Given the description of an element on the screen output the (x, y) to click on. 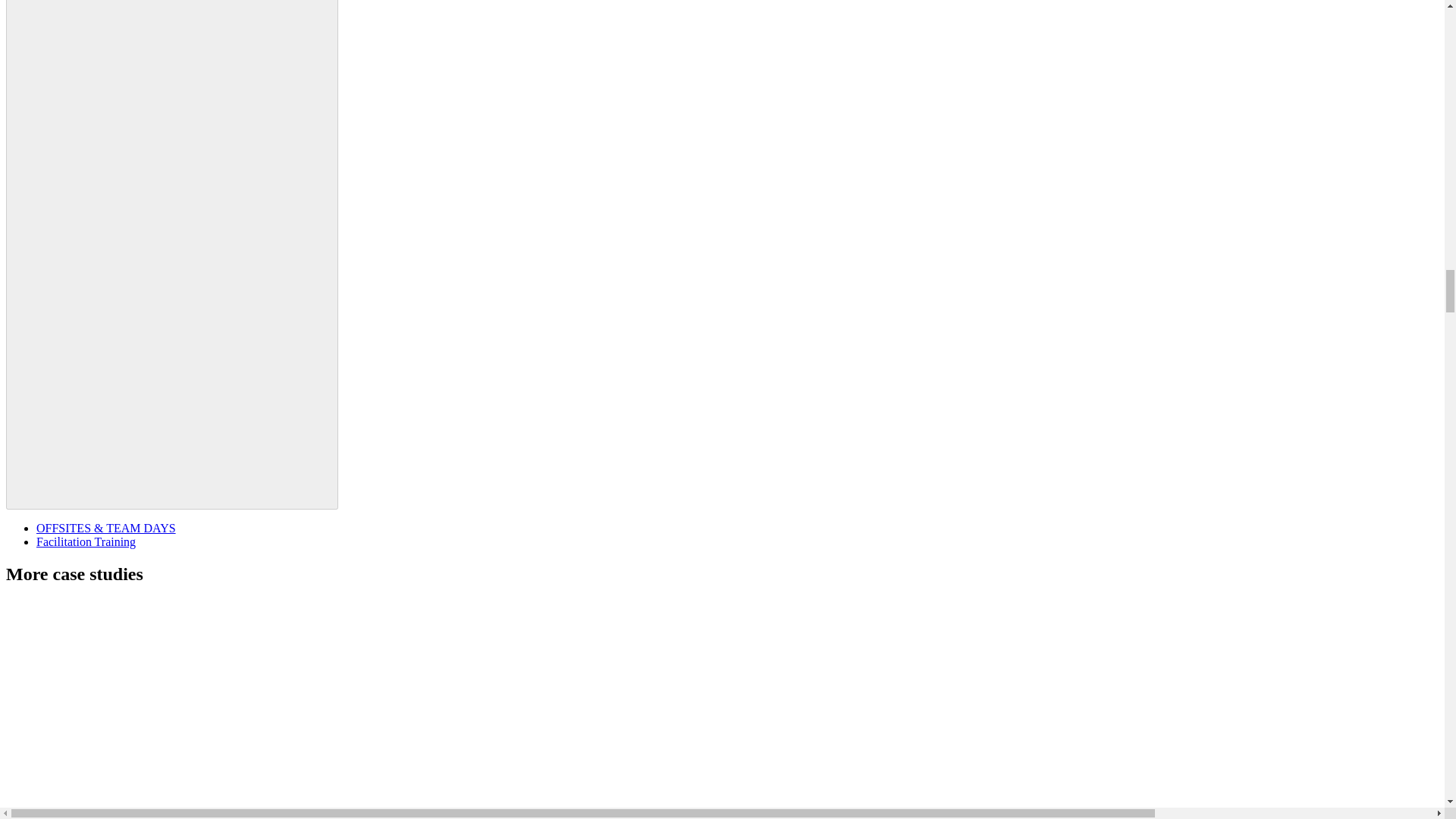
Facilitation Training (85, 541)
